Given the description of an element on the screen output the (x, y) to click on. 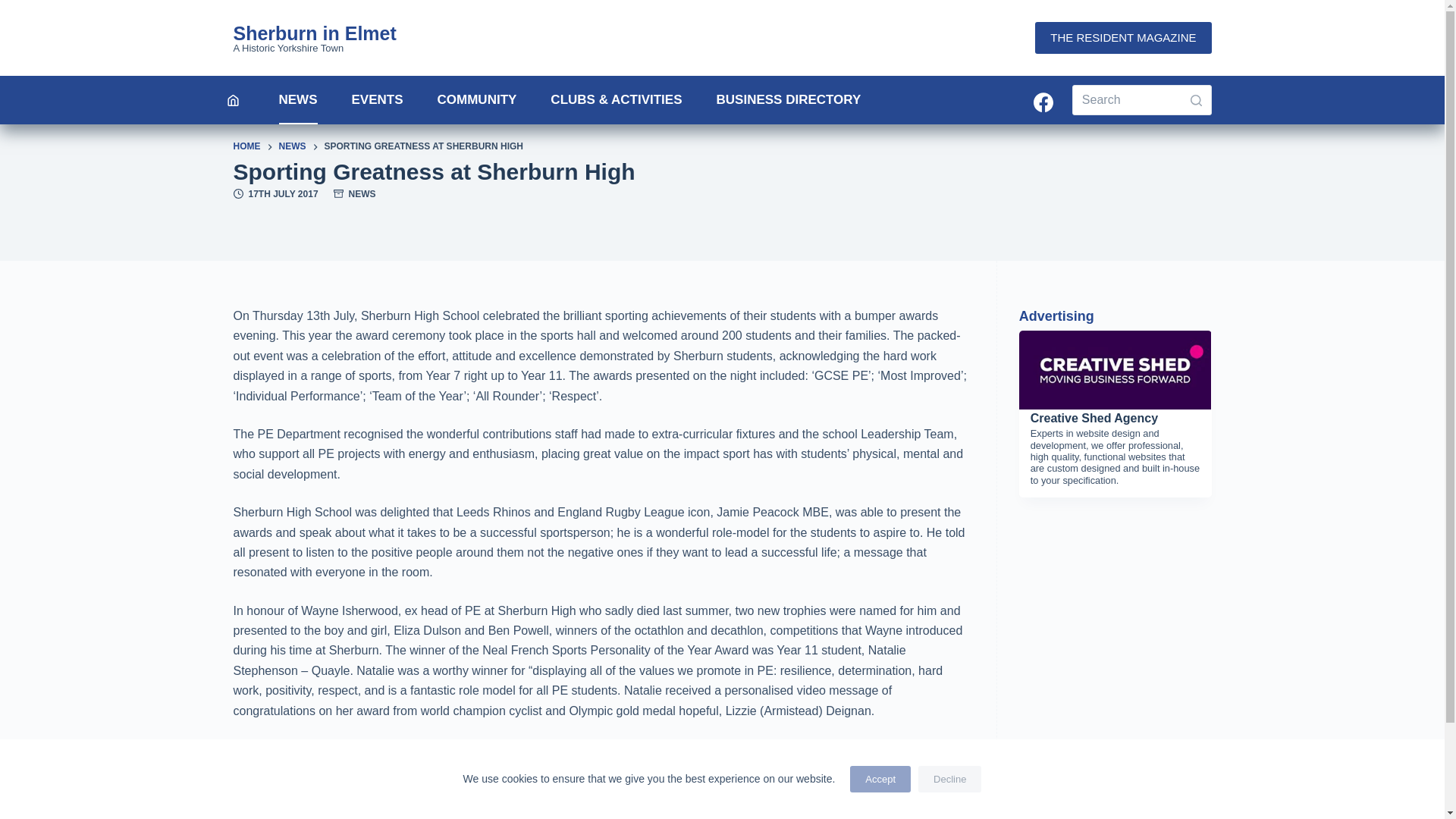
Sporting Greatness at Sherburn High (721, 171)
THE RESIDENT MAGAZINE (1123, 38)
Decline (949, 778)
Skip to content (15, 7)
NEWS (362, 194)
EVENTS (377, 100)
HOME (246, 146)
Sherburn in Elmet (314, 33)
NEWS (292, 146)
BUSINESS DIRECTORY (787, 100)
Accept (880, 778)
COMMUNITY (477, 100)
Search for... (1141, 100)
NEWS (298, 100)
